Given the description of an element on the screen output the (x, y) to click on. 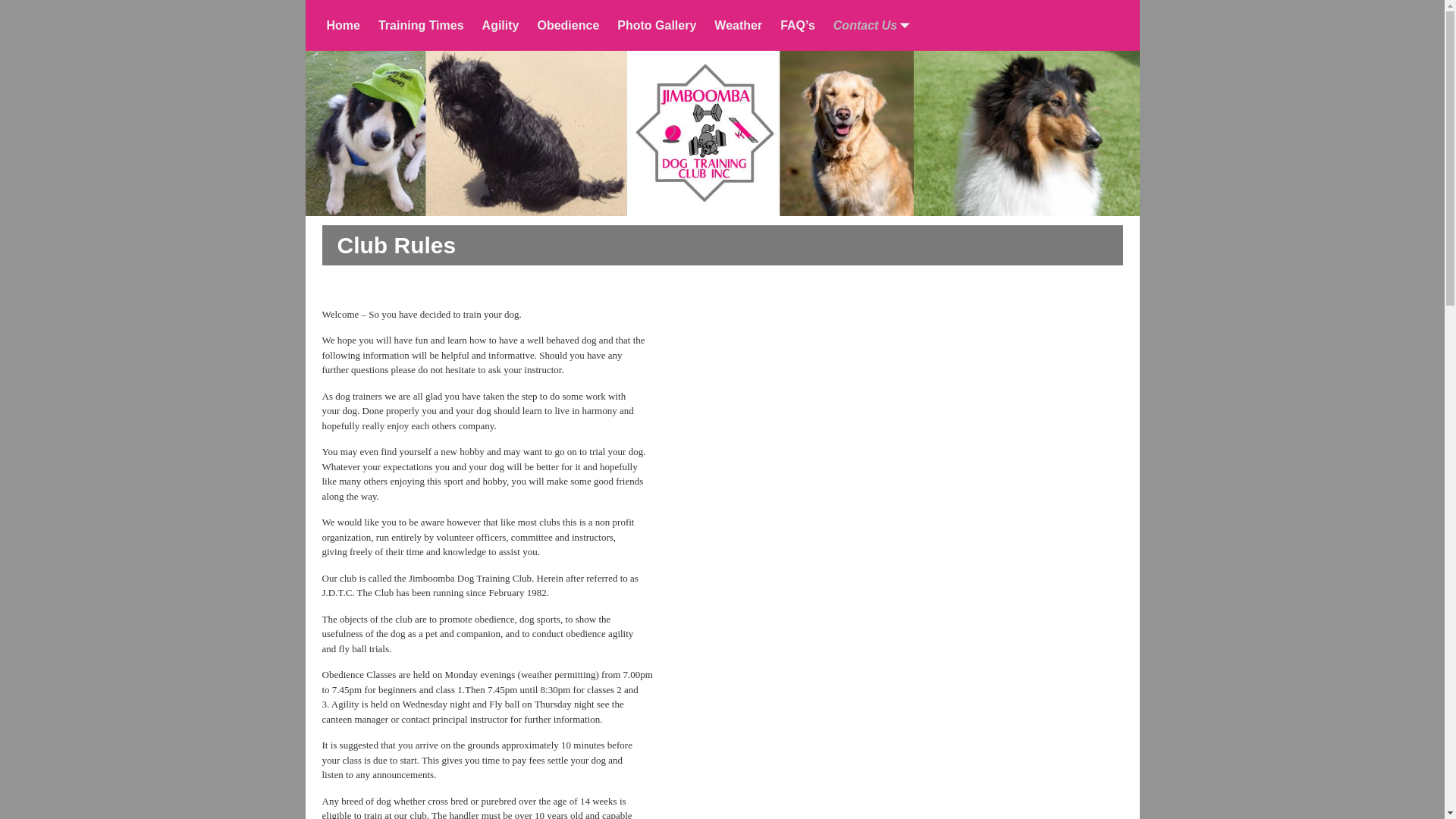
Contact Us Element type: text (869, 25)
Agility Element type: text (500, 25)
Home Element type: text (342, 25)
Weather Element type: text (738, 25)
Training Times Element type: text (421, 25)
Obedience Element type: text (567, 25)
Photo Gallery Element type: text (656, 25)
